Given the description of an element on the screen output the (x, y) to click on. 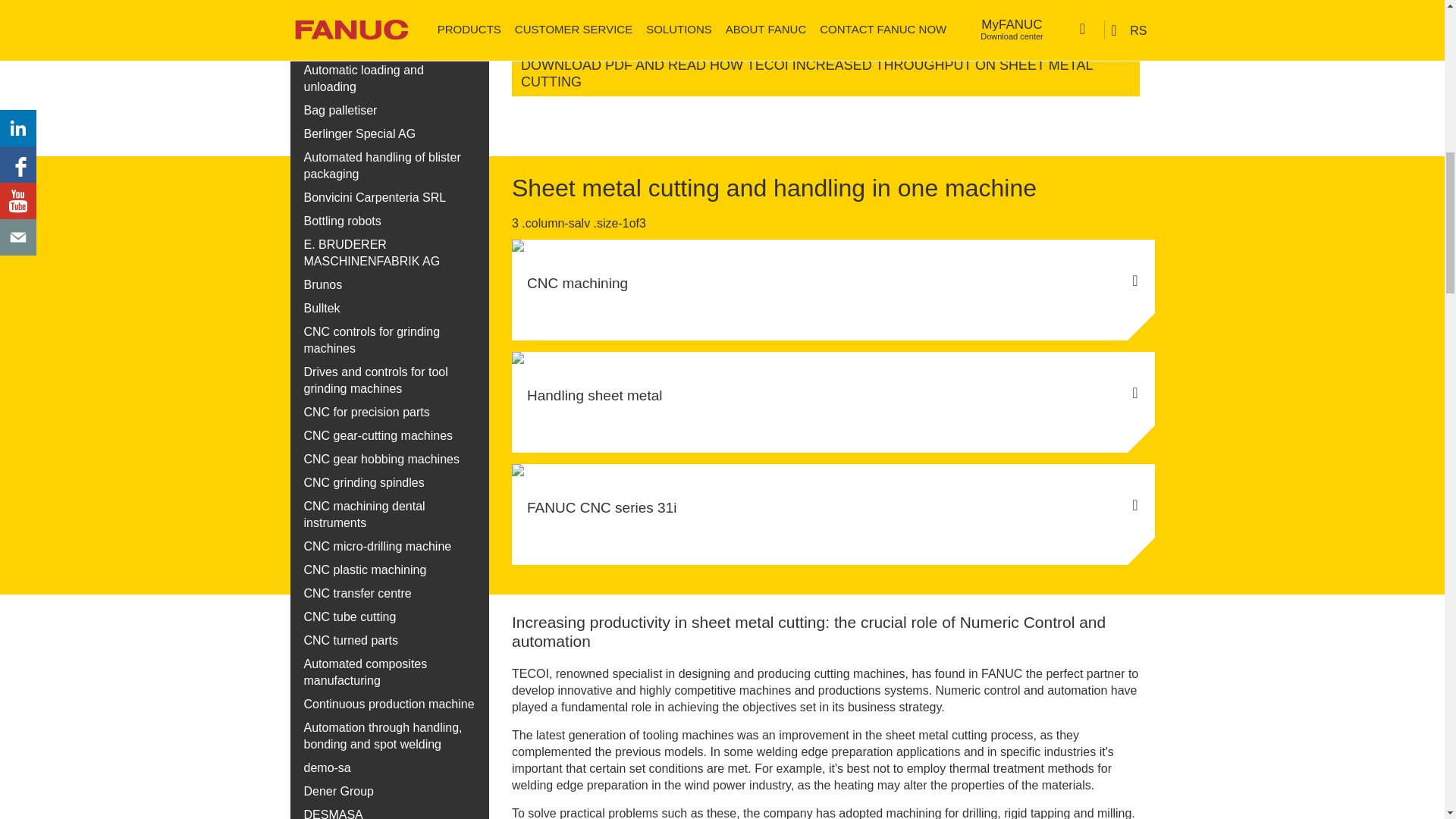
FANUC CNC series 31i (833, 498)
